Given the description of an element on the screen output the (x, y) to click on. 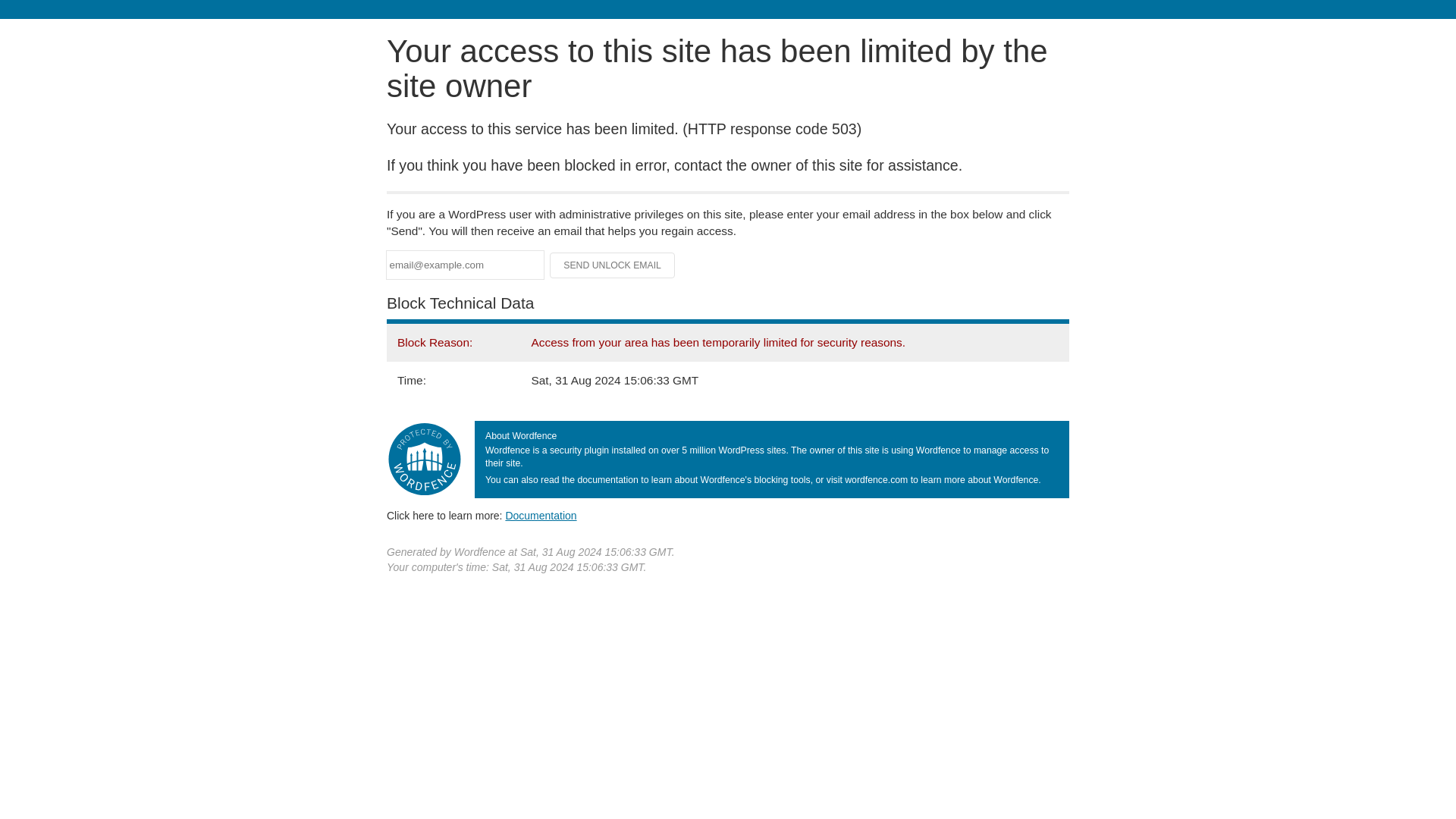
Send Unlock Email (612, 265)
Documentation (540, 515)
Send Unlock Email (612, 265)
